Given the description of an element on the screen output the (x, y) to click on. 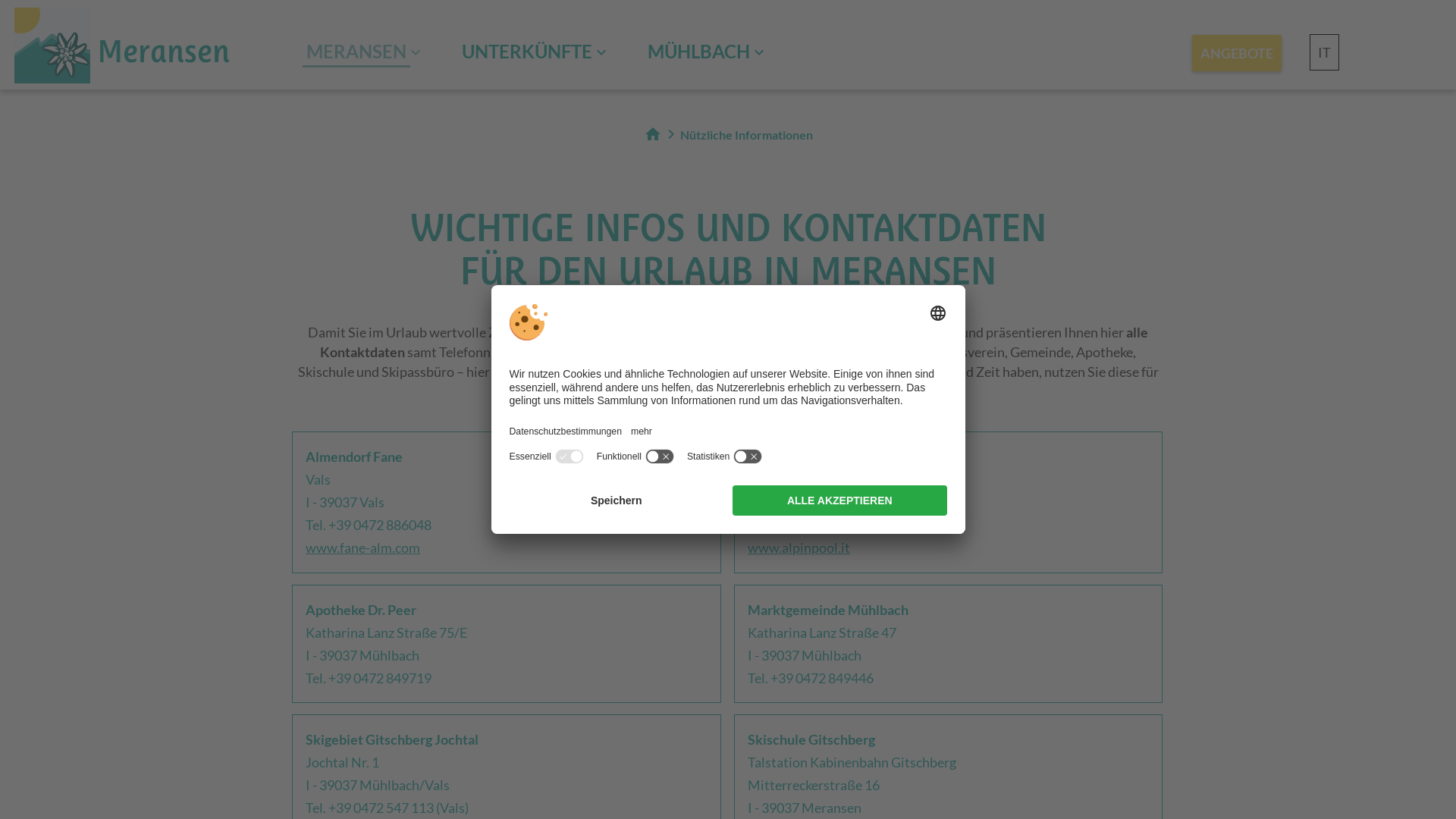
Meransen Element type: text (121, 46)
MERANSEN Element type: text (356, 52)
ANGEBOTE Element type: text (1236, 52)
IT Element type: text (1324, 51)
www.alpinpool.it Element type: text (798, 547)
www.fane-alm.com Element type: text (362, 547)
home Element type: text (652, 134)
